Given the description of an element on the screen output the (x, y) to click on. 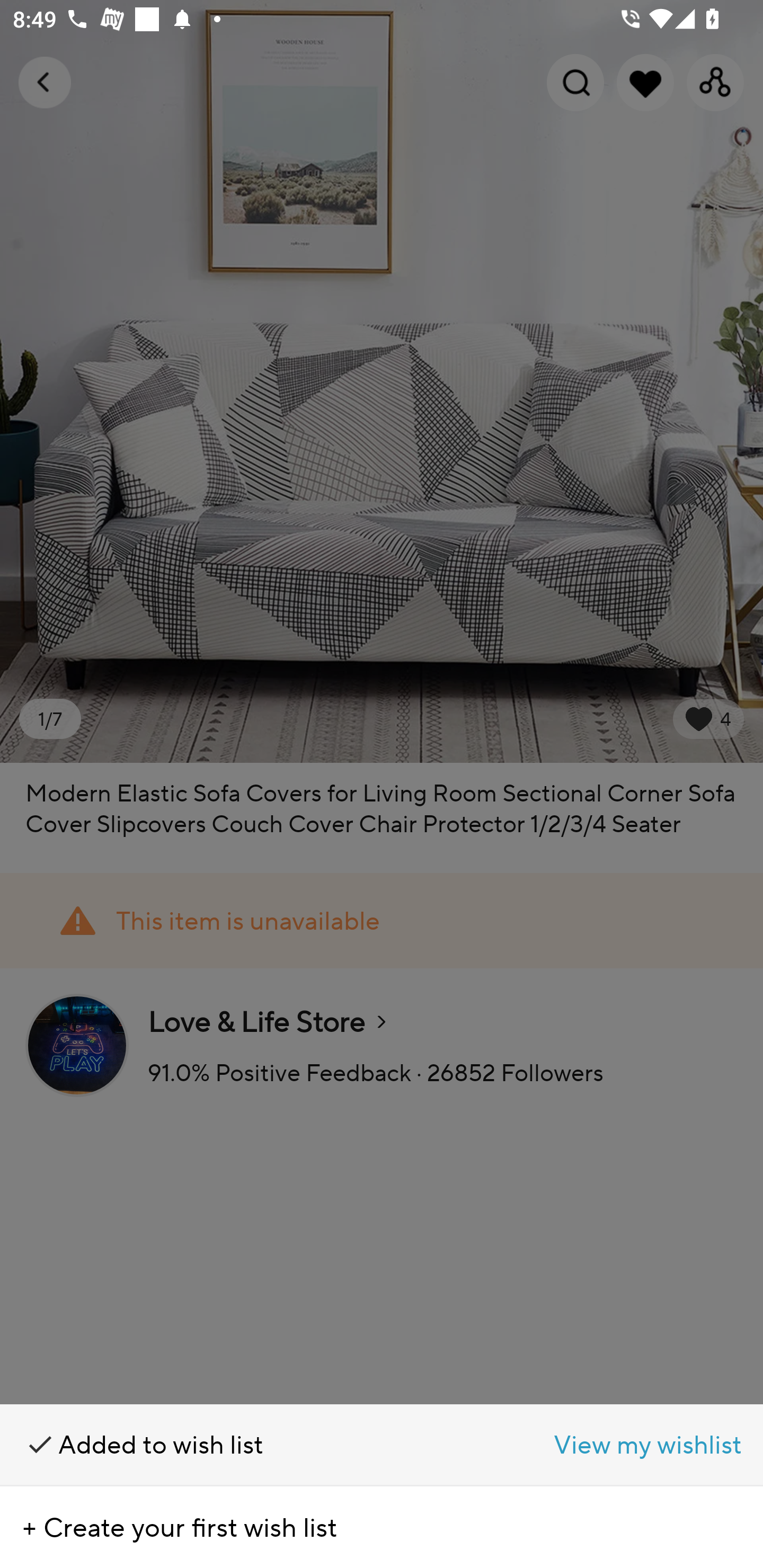
View my wishlist (572, 1444)
+ Create your first wish list (381, 1527)
